Given the description of an element on the screen output the (x, y) to click on. 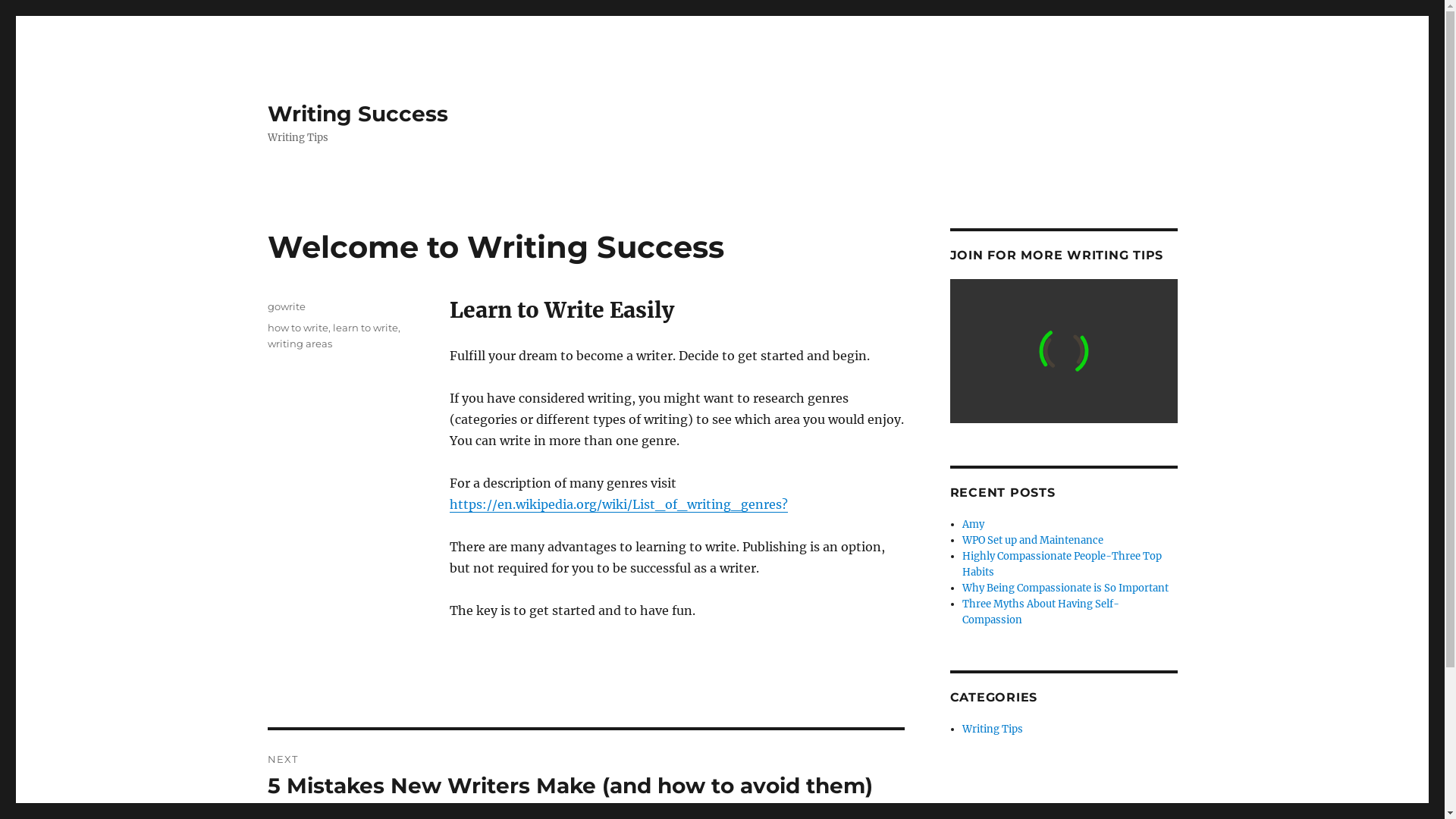
Highly Compassionate People-Three Top Habits Element type: text (1061, 563)
WPO Set up and Maintenance Element type: text (1032, 539)
https://en.wikipedia.org/wiki/List_of_writing_genres? Element type: text (617, 503)
learn to write Element type: text (364, 327)
Writing Tips Element type: text (992, 728)
Writing Success Element type: text (356, 113)
gowrite Element type: text (285, 306)
writing areas Element type: text (298, 343)
Three Myths About Having Self-Compassion Element type: text (1040, 611)
Amy Element type: text (973, 523)
Why Being Compassionate is So Important Element type: text (1065, 587)
how to write Element type: text (296, 327)
